Given the description of an element on the screen output the (x, y) to click on. 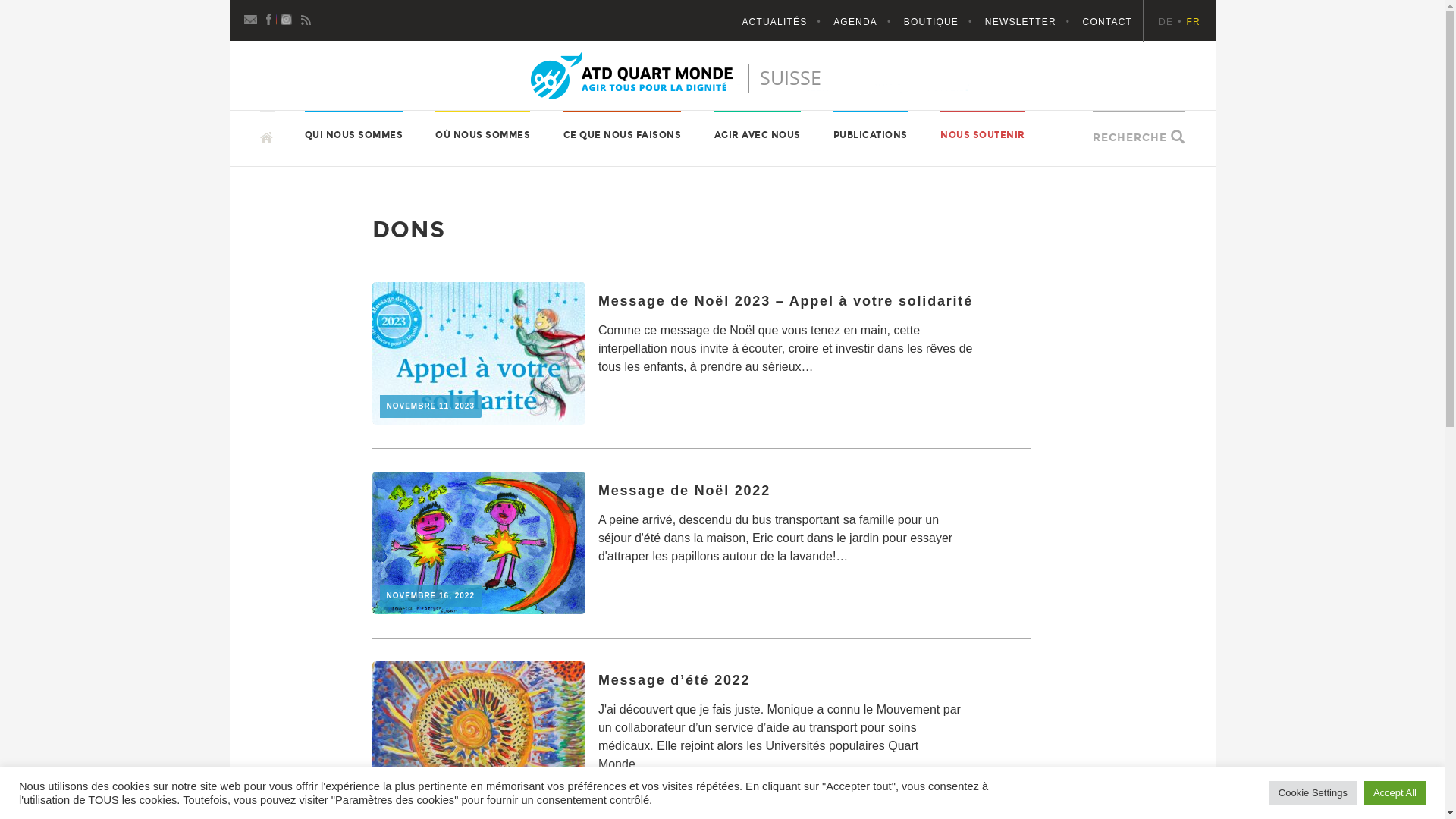
RSS Element type: hover (305, 17)
NOUS SOUTENIR Element type: text (982, 134)
Cookie Settings Element type: text (1312, 792)
ALLER AU CONTENU PRINCIPAL Element type: text (259, 109)
Accept All Element type: text (1394, 792)
NEWSLETTER Element type: text (1032, 21)
DE Element type: text (1172, 21)
AGENDA Element type: text (866, 21)
ATD HOME Element type: text (299, 136)
Instagram Element type: hover (287, 17)
RECHERCHE Element type: text (1129, 137)
CONTACT Element type: text (1107, 21)
BOUTIQUE Element type: text (942, 21)
Facebook Element type: hover (269, 17)
AGIR AVEC NOUS Element type: text (757, 134)
  Element type: text (266, 129)
PUBLICATIONS Element type: text (870, 134)
FR Element type: text (1193, 21)
ATD Home Element type: hover (722, 75)
QUI NOUS SOMMES Element type: text (353, 134)
CE QUE NOUS FAISONS Element type: text (622, 134)
Newsletter Element type: hover (251, 17)
